Given the description of an element on the screen output the (x, y) to click on. 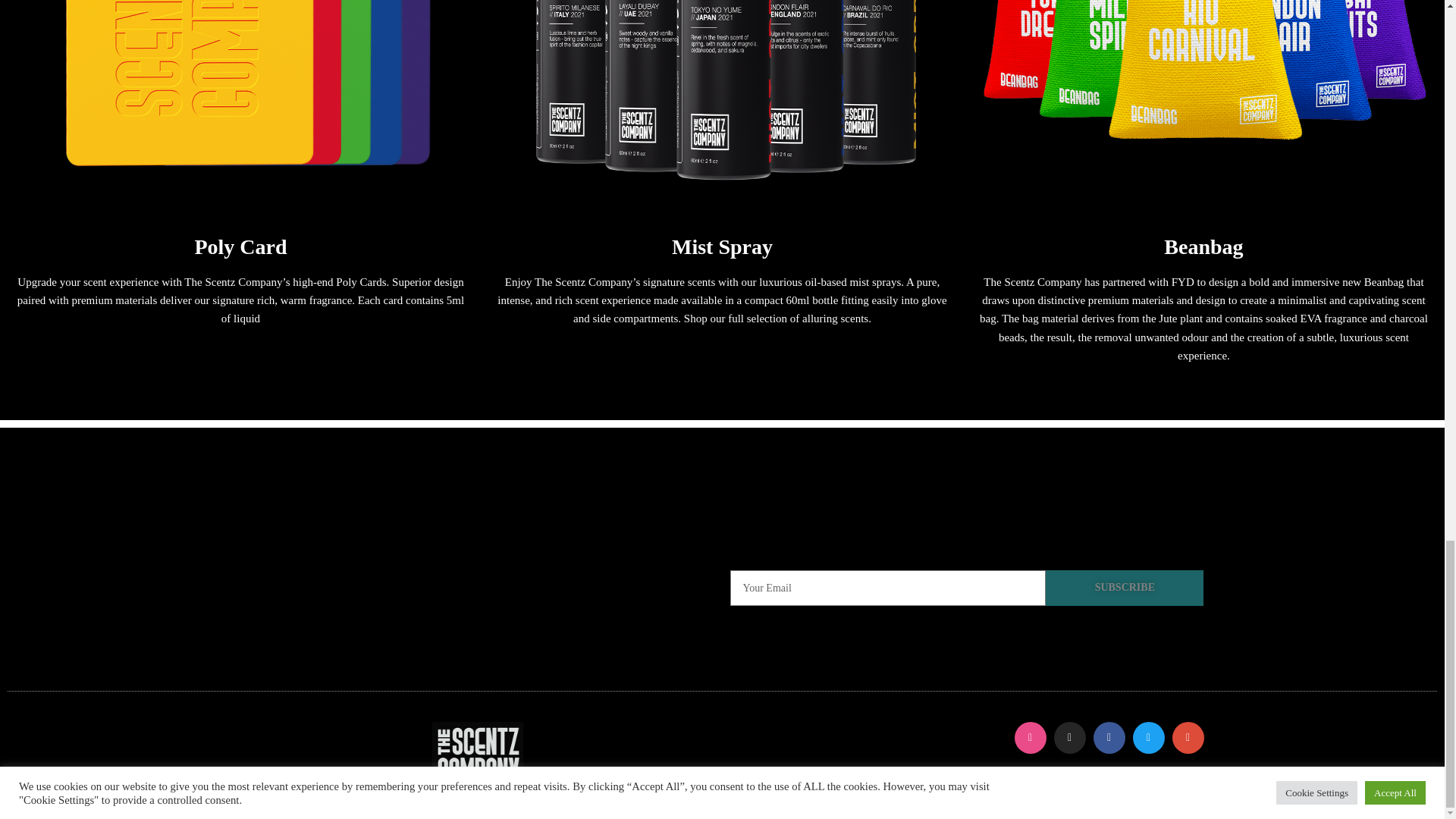
SUBSCRIBE (1124, 588)
